Given the description of an element on the screen output the (x, y) to click on. 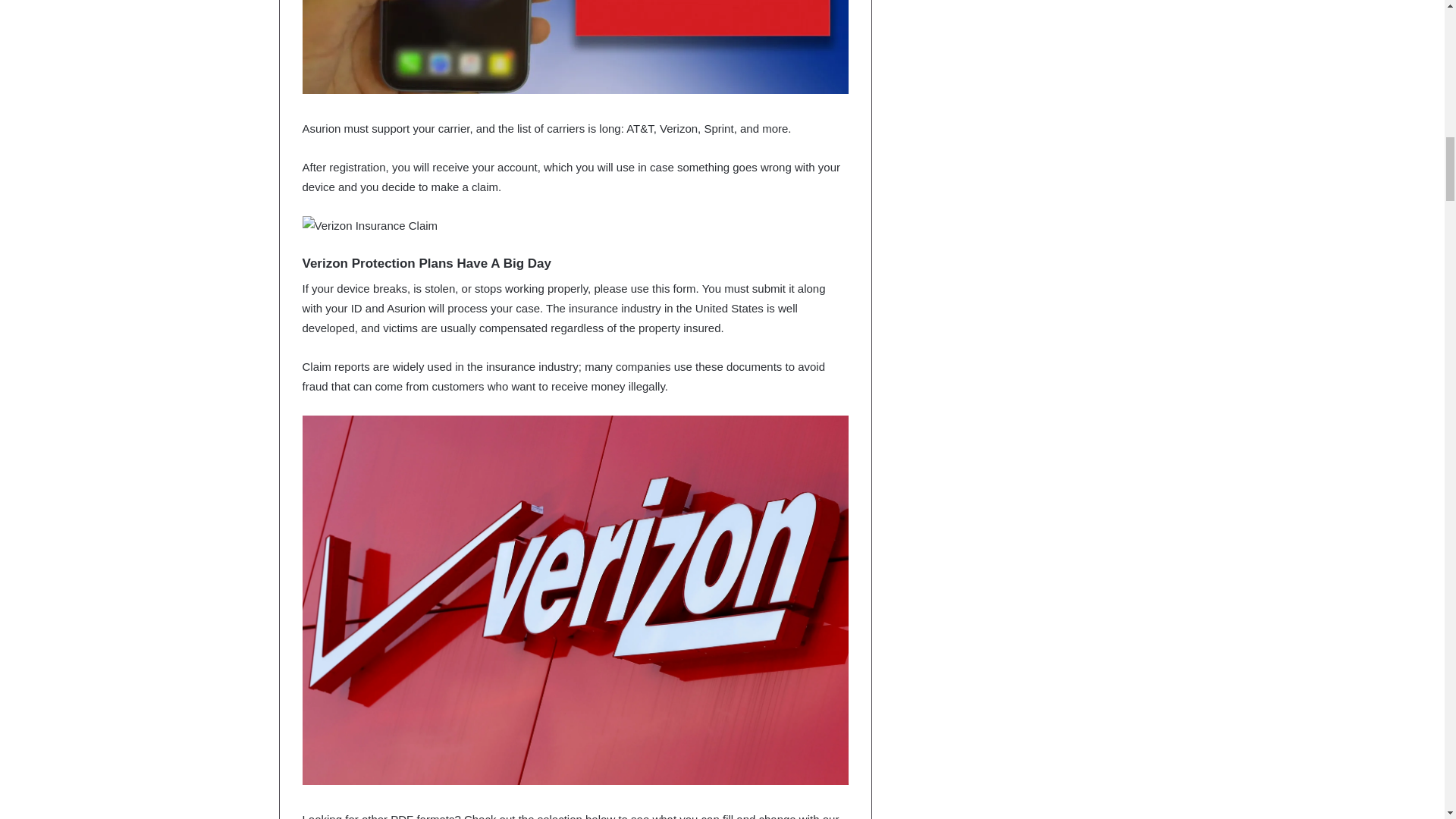
Verizon Insurance Claim (574, 47)
Verizon Insurance Claim (369, 225)
